Given the description of an element on the screen output the (x, y) to click on. 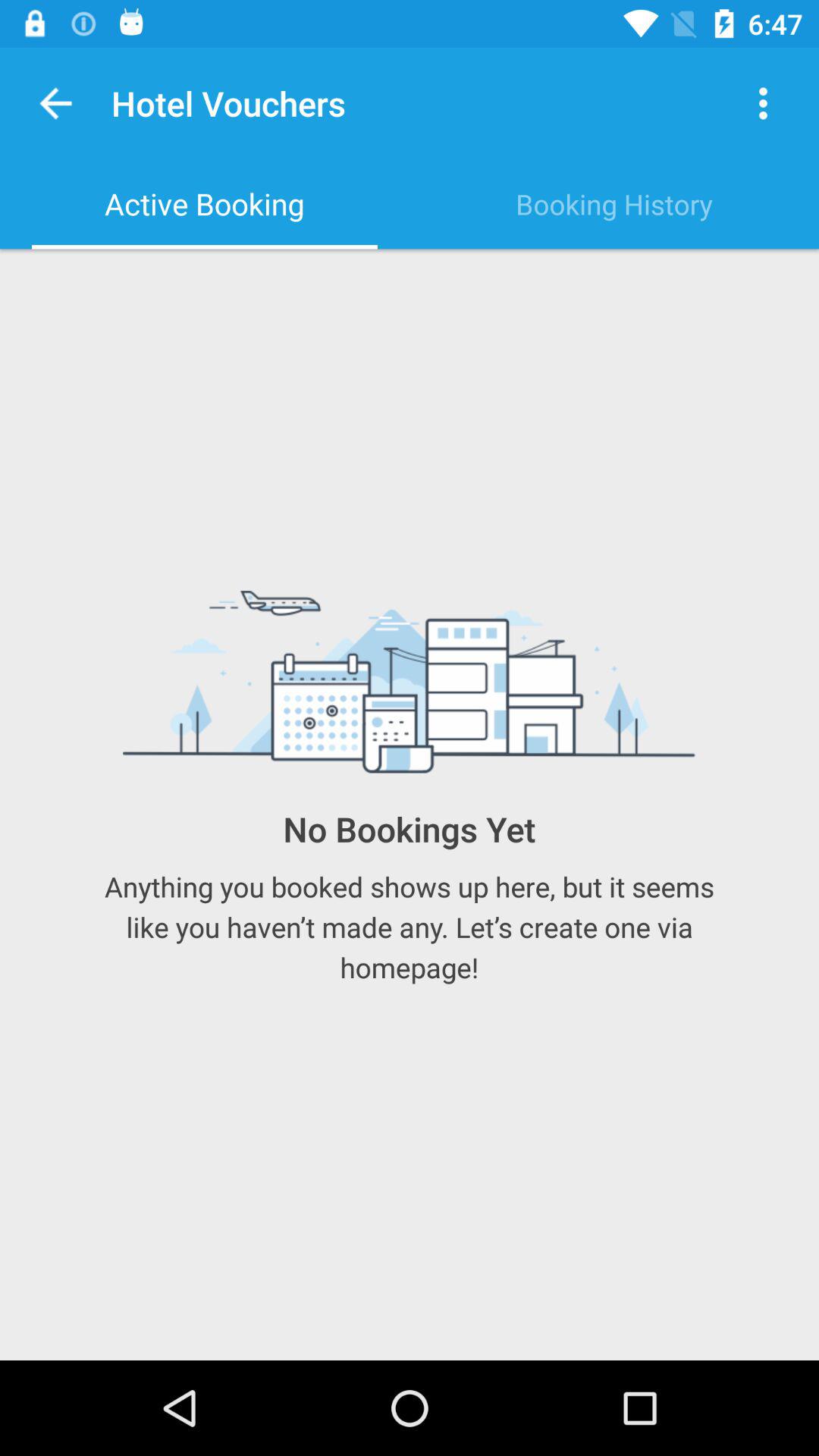
press icon next to the booking history item (204, 204)
